Given the description of an element on the screen output the (x, y) to click on. 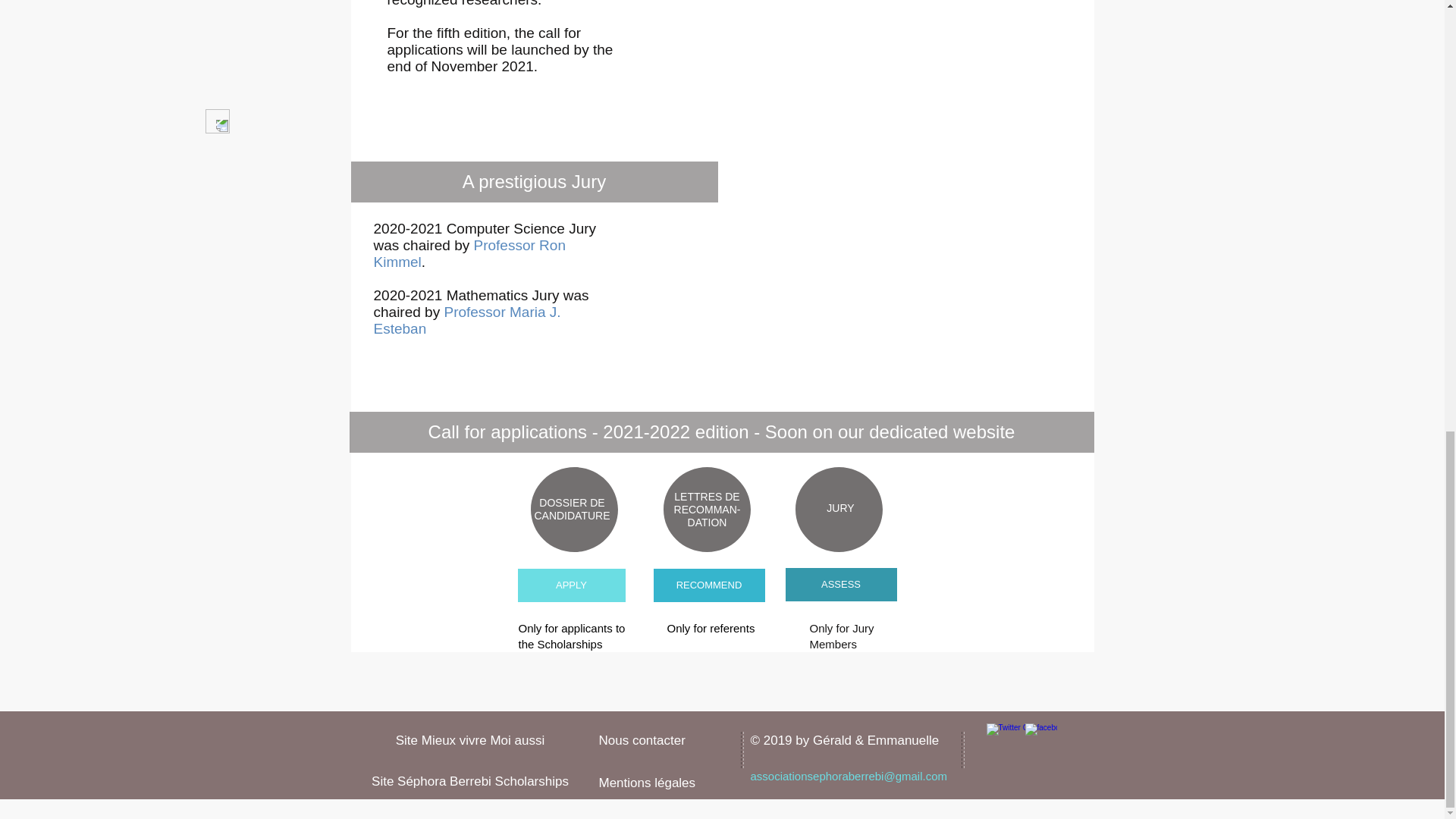
APPLY (570, 584)
Site Mieux vivre Moi aussi (470, 740)
A prestigious Jury (533, 181)
Nous contacter (641, 740)
RECOMMEND (709, 584)
ASSESS (841, 584)
